Given the description of an element on the screen output the (x, y) to click on. 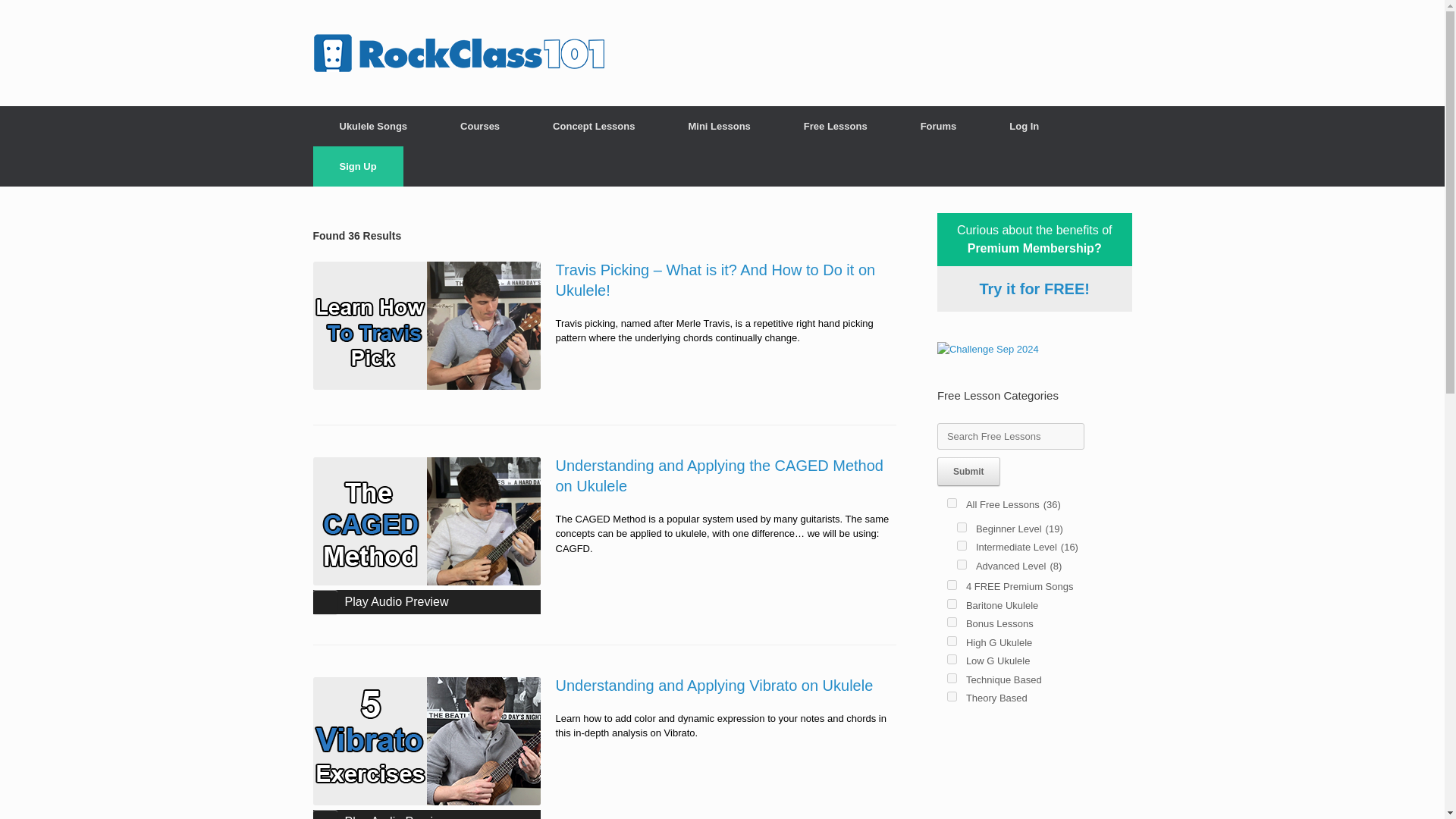
low-g-ukulele (951, 659)
Log In (1023, 126)
technique-based (951, 678)
4-free-premium-songs (951, 584)
Forums (938, 126)
high-g-ukulele (951, 640)
Submit (968, 471)
Ukulele Songs (373, 126)
Free Lessons (835, 126)
bonus-lessons (951, 622)
